Given the description of an element on the screen output the (x, y) to click on. 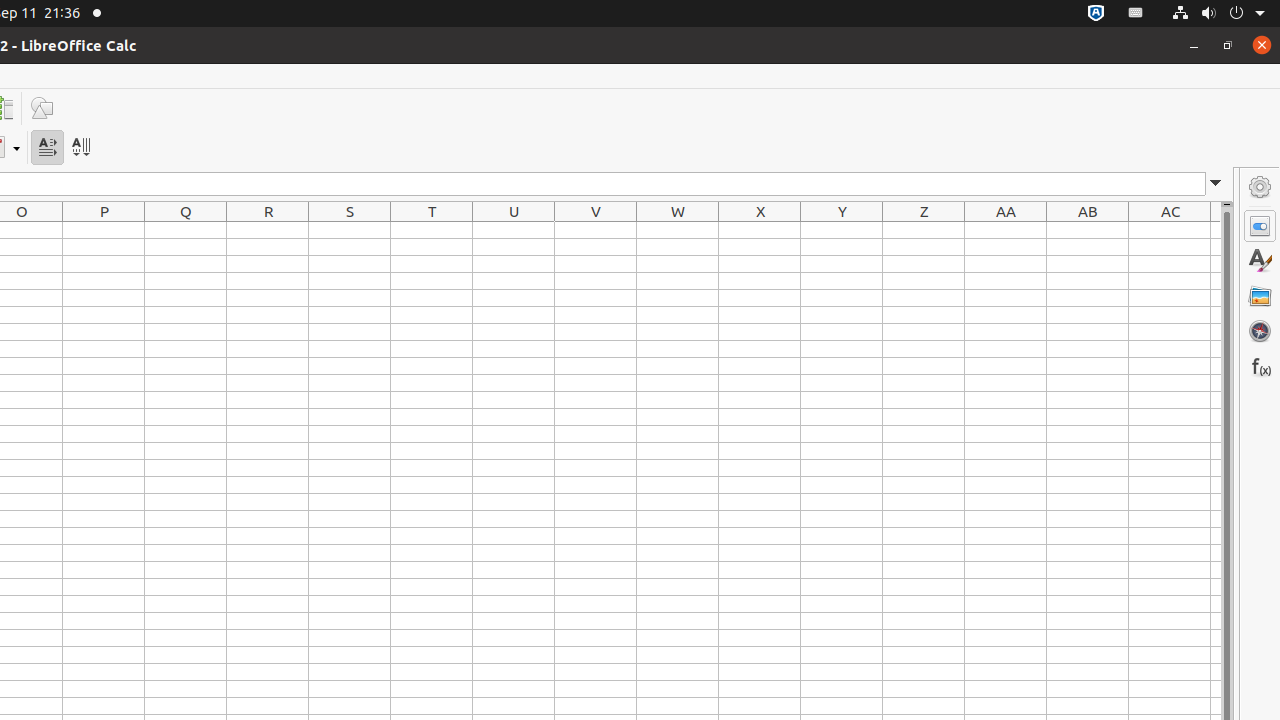
Gallery Element type: radio-button (1260, 296)
R1 Element type: table-cell (268, 230)
